Given the description of an element on the screen output the (x, y) to click on. 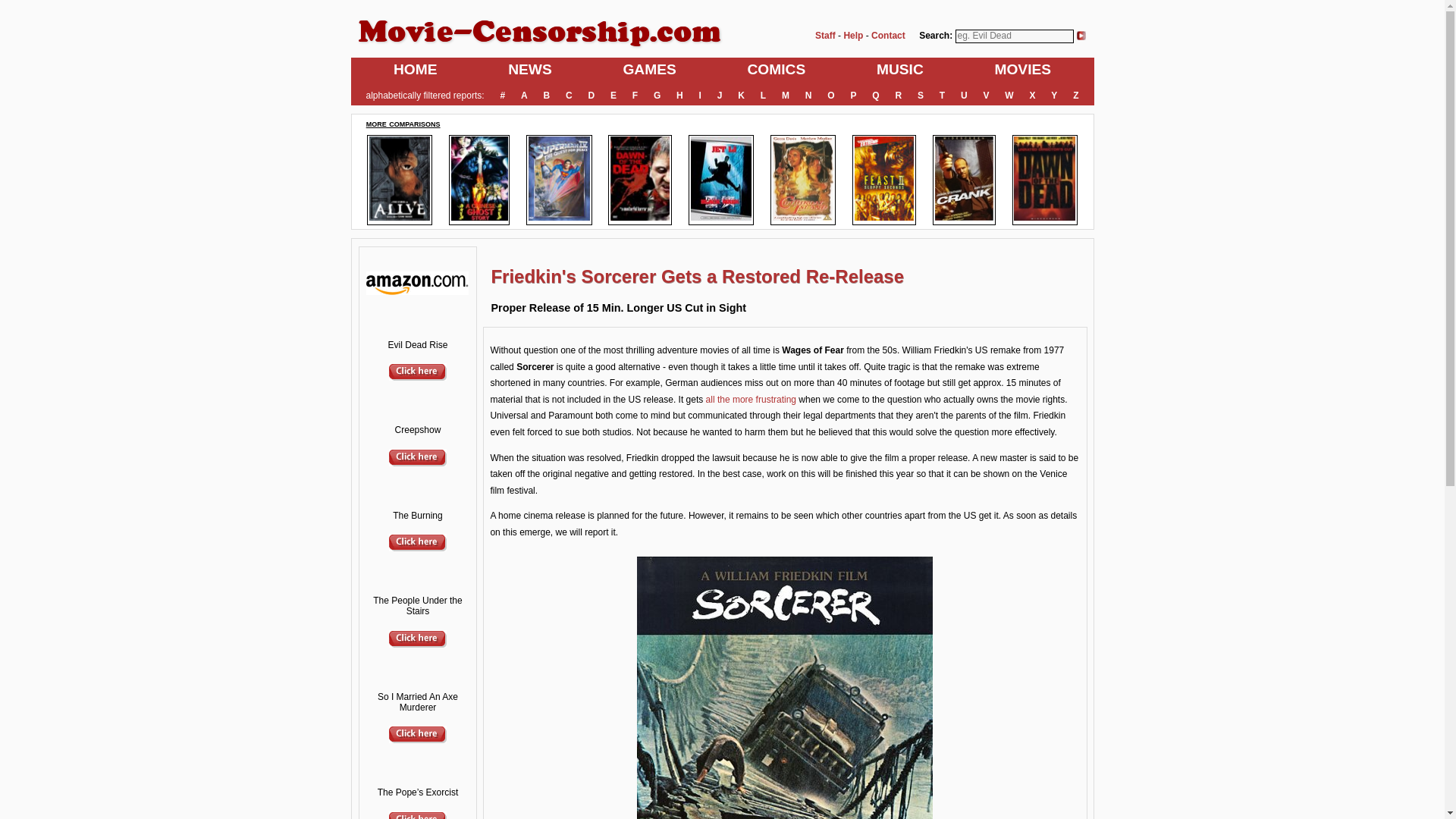
MOVIES (1022, 69)
F (634, 95)
L (762, 95)
Staff (825, 35)
M (785, 95)
Z (1075, 95)
O (831, 95)
Y (1054, 95)
COMICS (776, 69)
Evil Dead Rise from Amazon.com (417, 377)
